Given the description of an element on the screen output the (x, y) to click on. 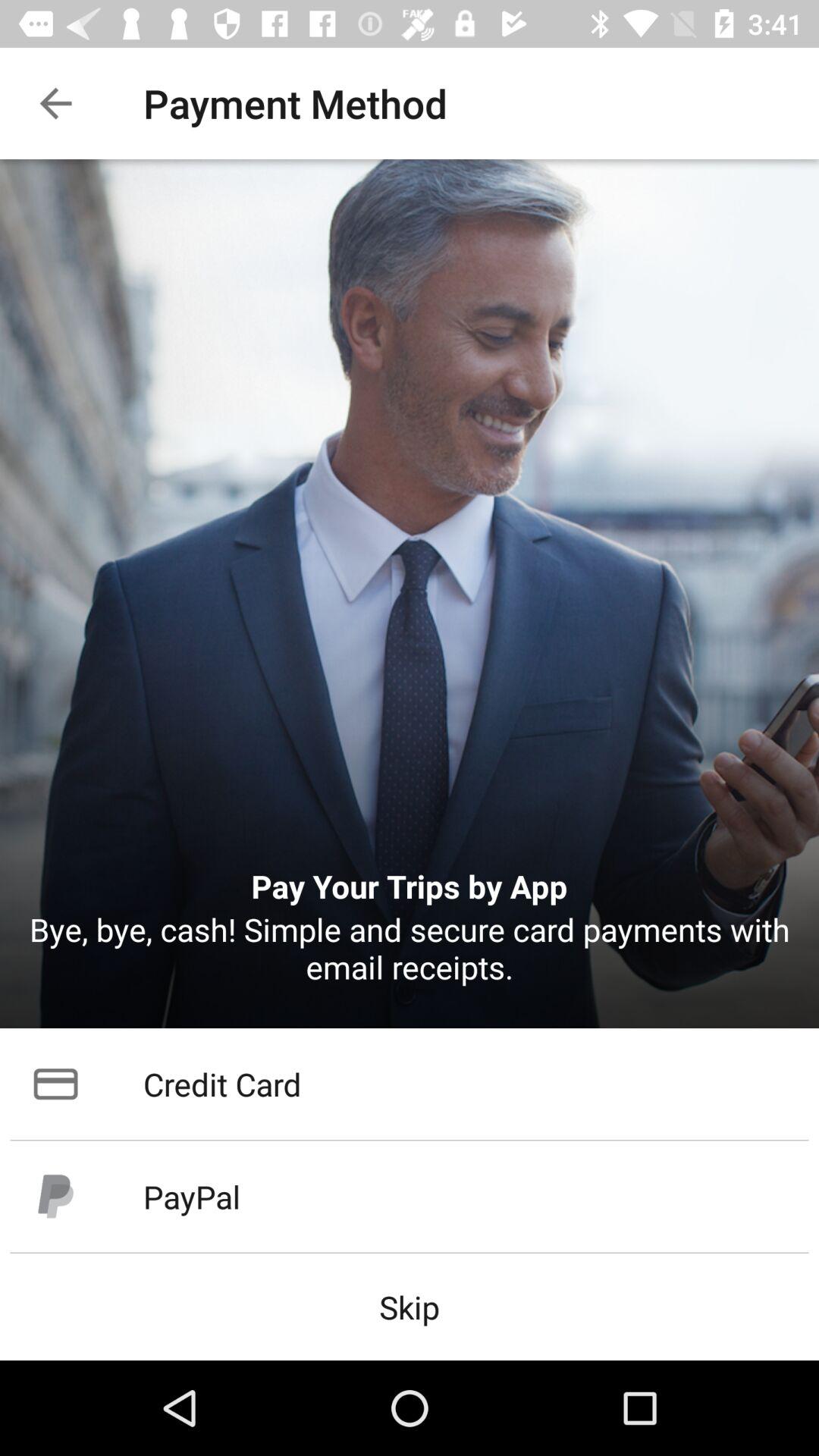
click paypal item (409, 1196)
